Given the description of an element on the screen output the (x, y) to click on. 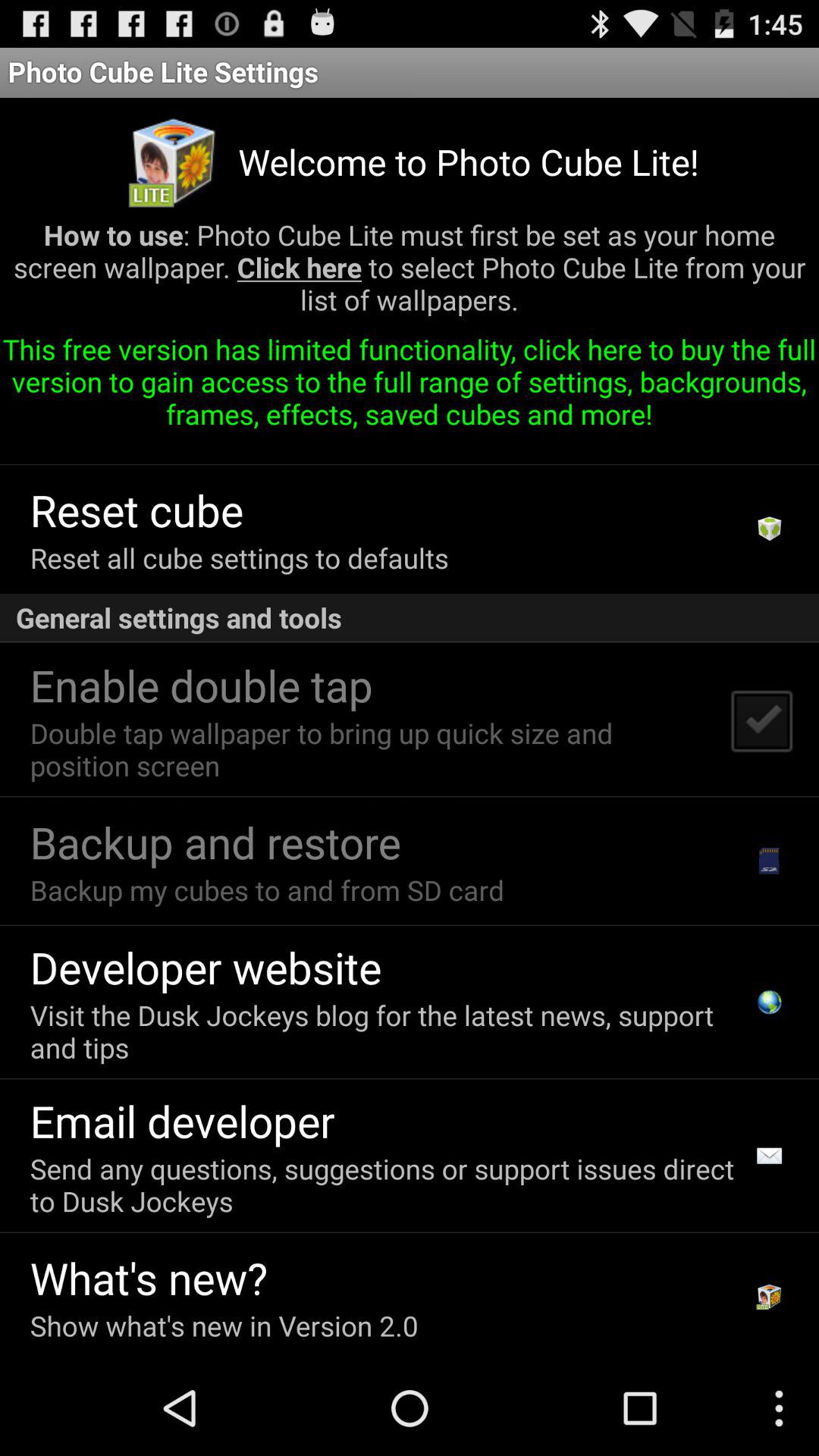
jump to send any questions icon (386, 1184)
